Given the description of an element on the screen output the (x, y) to click on. 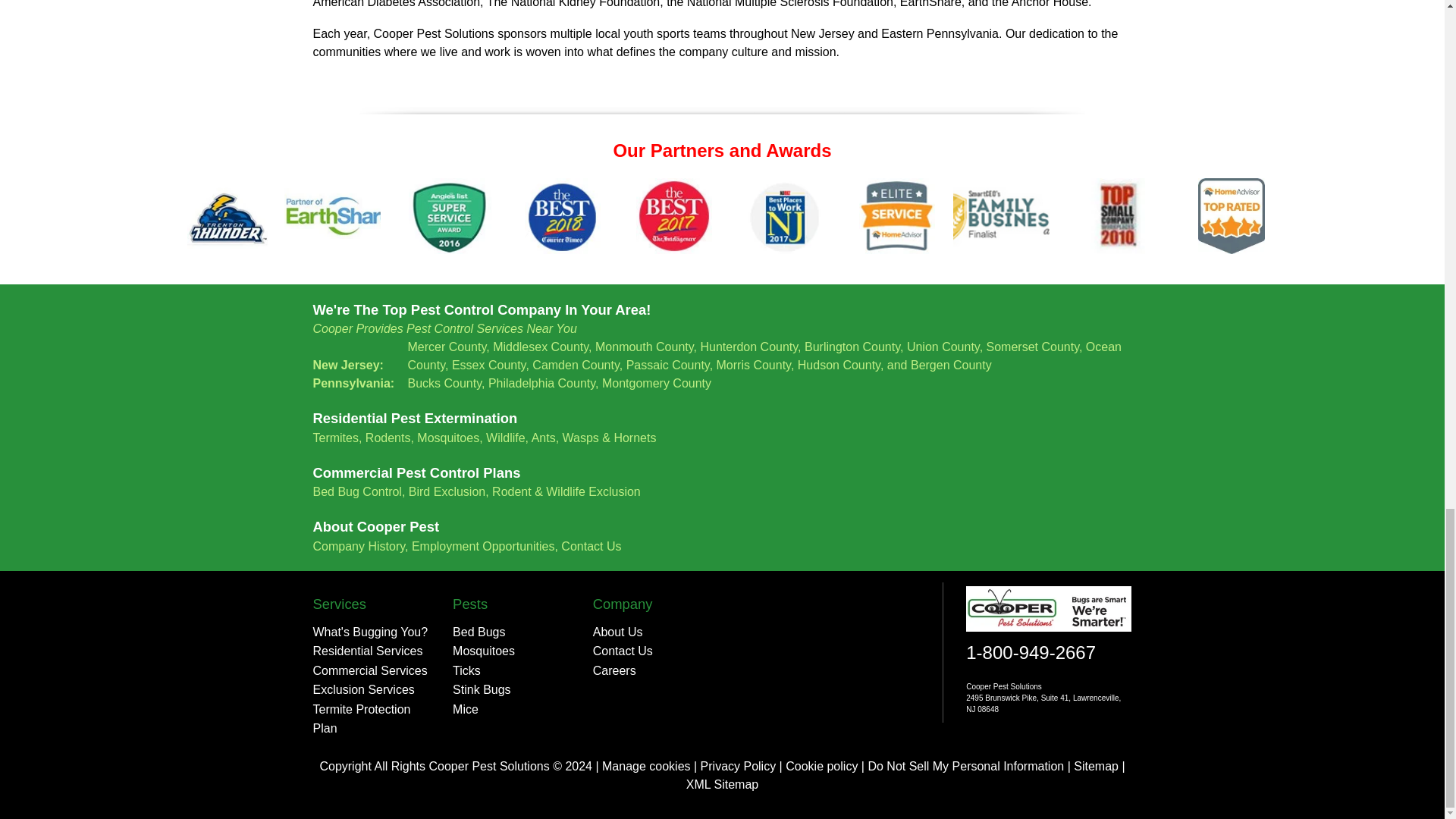
top-small-company-v2 (1119, 215)
home-advisor (896, 215)
partner-thunder (228, 215)
anglie's-list-2016 (451, 215)
courier-best-2017 (561, 215)
partner-earthshare (339, 215)
nj-best-places-to-work-circle (786, 215)
intelligencer-best-2017 (673, 215)
Top rated HA badge (1230, 215)
family-business-finalist (1007, 215)
